Given the description of an element on the screen output the (x, y) to click on. 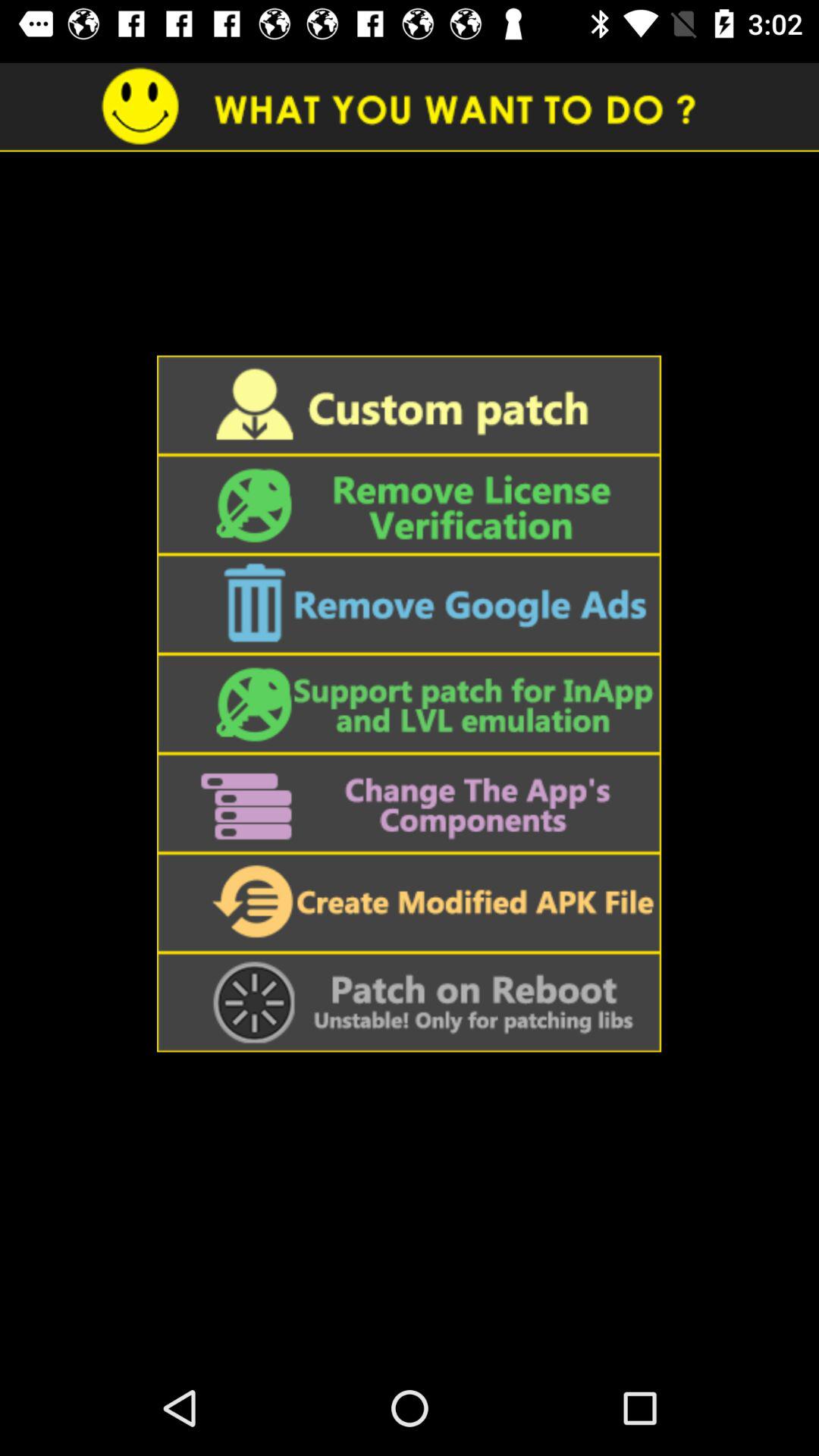
change the app 's components (408, 803)
